Given the description of an element on the screen output the (x, y) to click on. 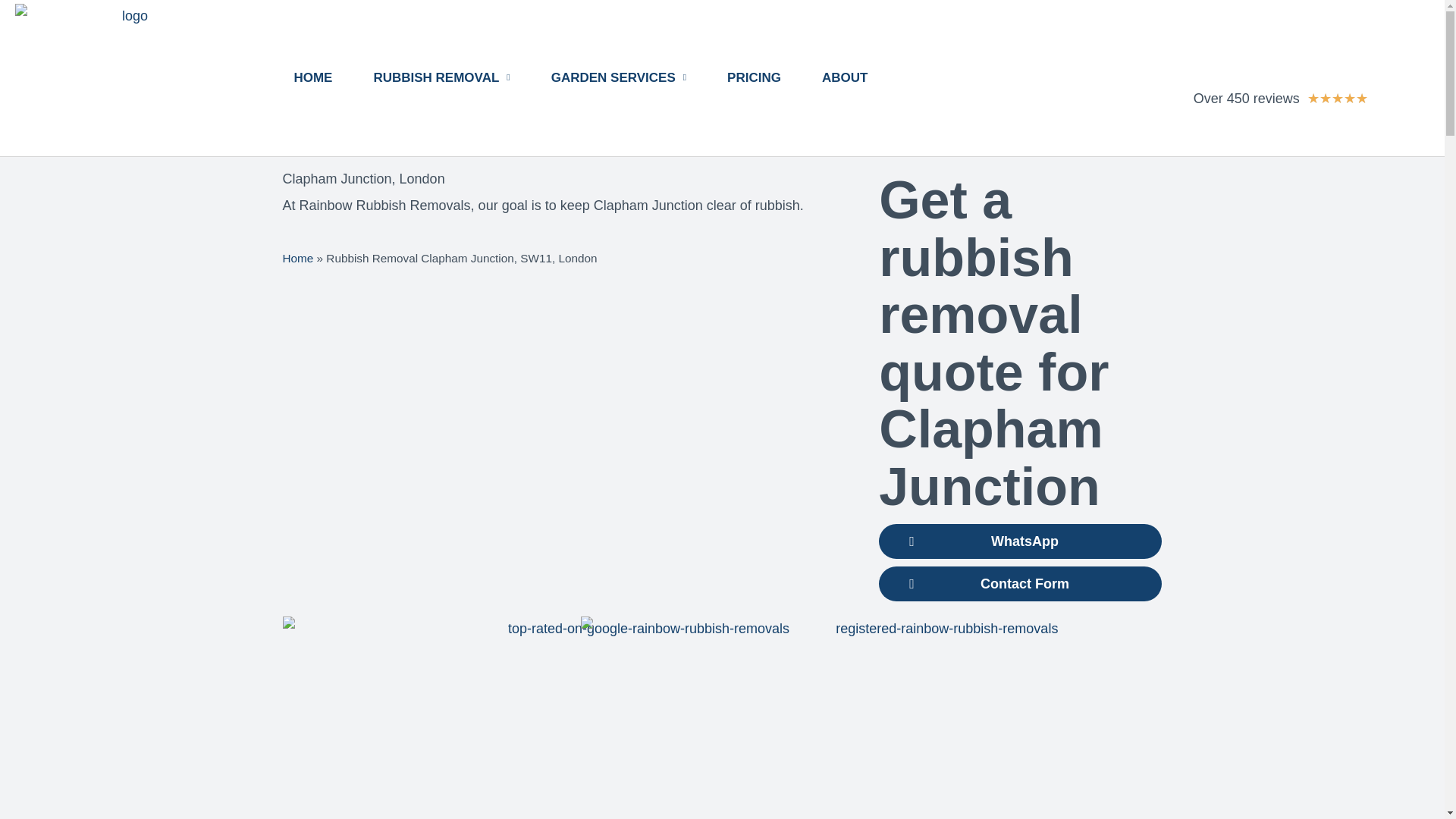
GARDEN SERVICES (618, 77)
HOME (312, 77)
RUBBISH REMOVAL (440, 77)
